Given the description of an element on the screen output the (x, y) to click on. 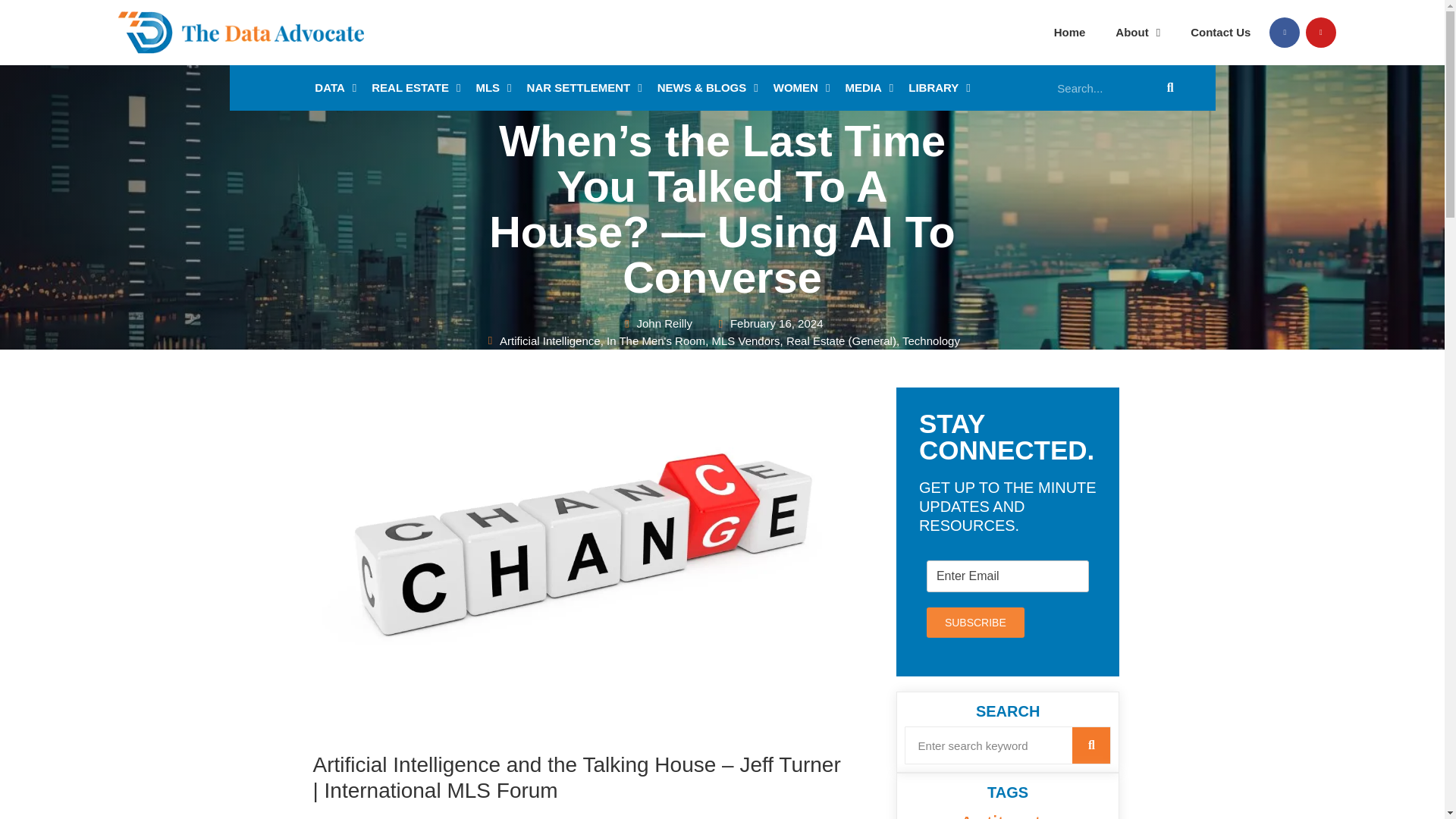
Contact Us (1219, 32)
DATA (335, 87)
Enter Email (1007, 576)
SUBSCRIBE (975, 622)
About (1137, 32)
NAR SETTLEMENT (584, 87)
REAL ESTATE (415, 87)
Home (1069, 32)
MLS (492, 87)
